Given the description of an element on the screen output the (x, y) to click on. 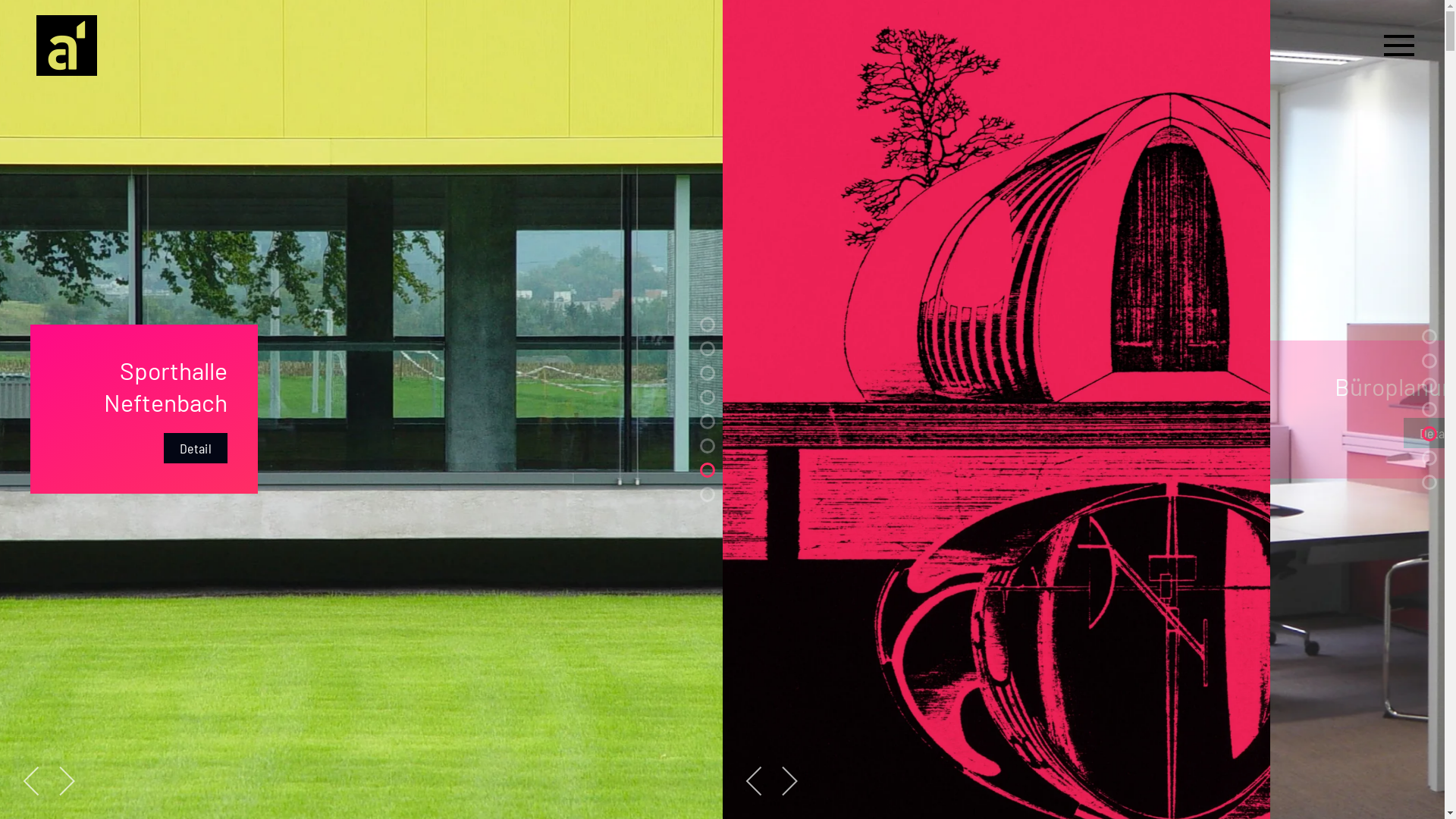
Detail Element type: text (887, 432)
MFH Biberlin Element type: text (706, 396)
Kontakt Element type: text (1429, 360)
Limnologisches Institut Element type: text (706, 348)
Detail Element type: text (476, 448)
Schulhaus Allmend Element type: text (1429, 336)
Schulhaus St.Leonhard Element type: text (706, 445)
Kleinprojekte Element type: text (706, 494)
Kleinprojekte Element type: text (1429, 384)
Sporthalle Neftenbach Element type: text (706, 469)
Haus Eber Element type: text (706, 324)
Detail Element type: text (66, 448)
